Given the description of an element on the screen output the (x, y) to click on. 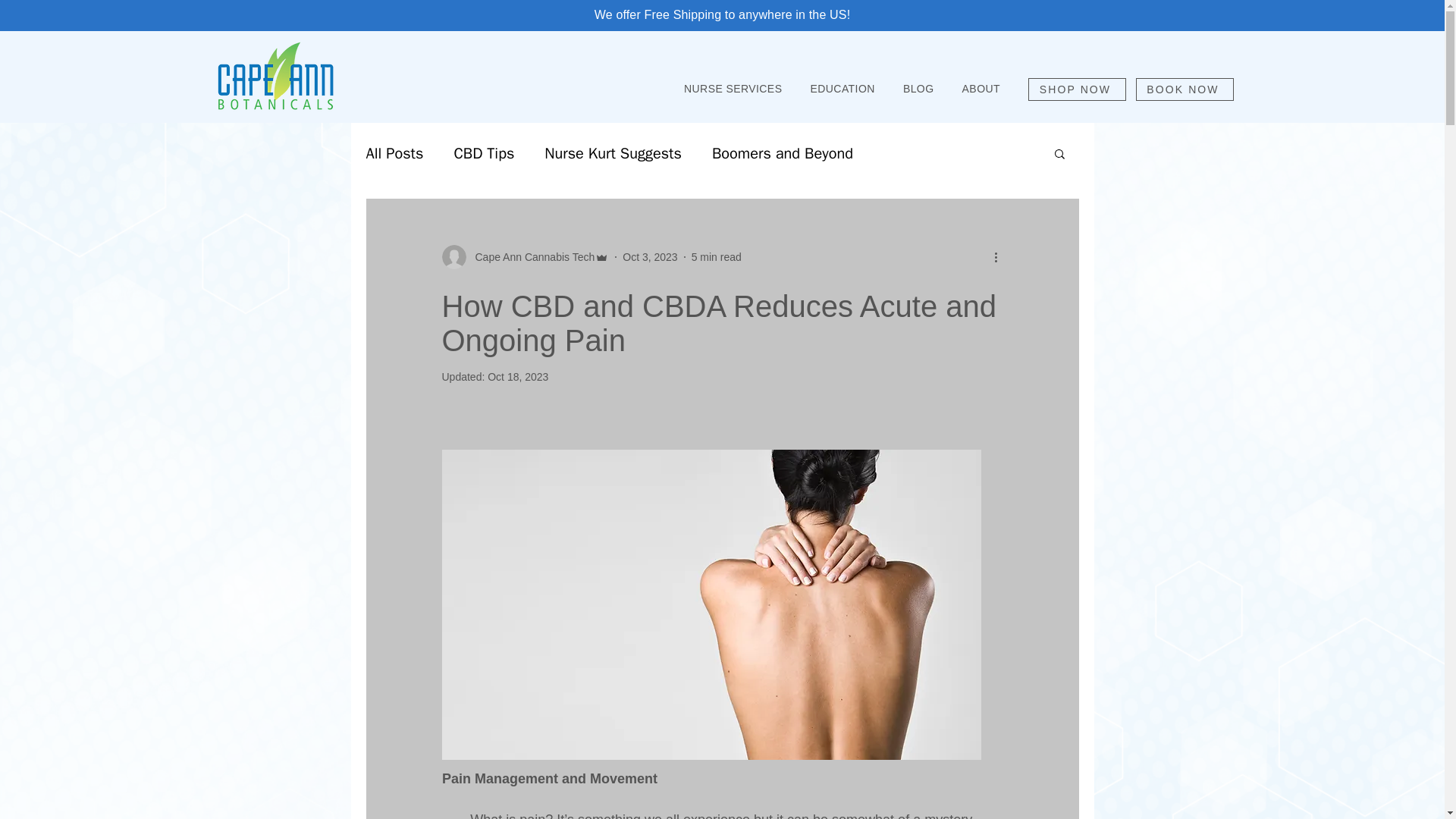
Cape Ann Cannabis Tech (524, 256)
Boomers and Beyond (782, 152)
EDUCATION (842, 88)
ABOUT (980, 88)
BLOG (917, 88)
Oct 3, 2023 (650, 256)
All Posts (394, 152)
SHOP NOW (1076, 88)
Cape Ann Cannabis Tech (529, 256)
BOOK NOW (1184, 88)
